Given the description of an element on the screen output the (x, y) to click on. 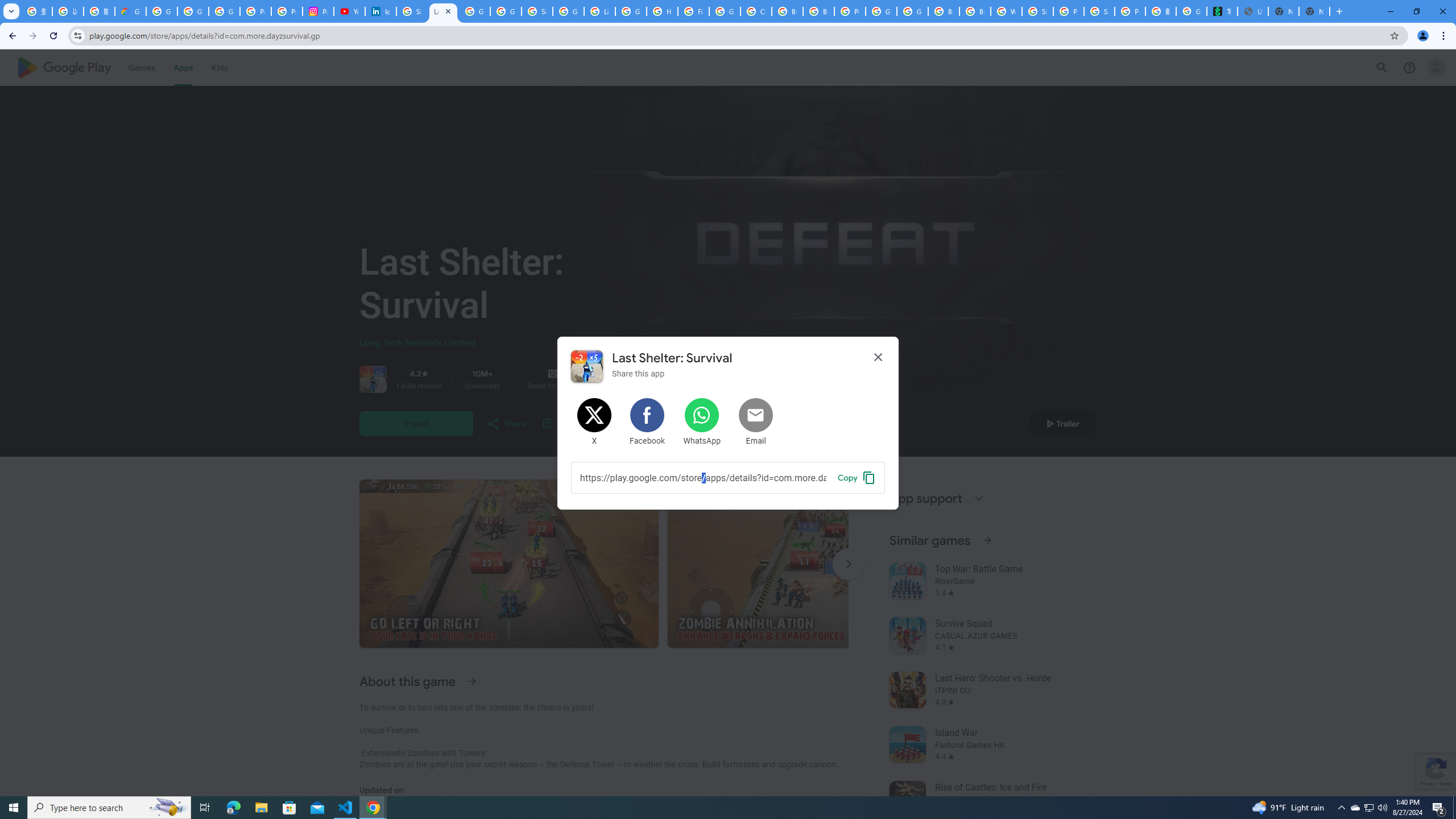
How do I create a new Google Account? - Google Account Help (662, 11)
Last Shelter: Survival - Apps on Google Play (443, 11)
Sign in - Google Accounts (1037, 11)
